Given the description of an element on the screen output the (x, y) to click on. 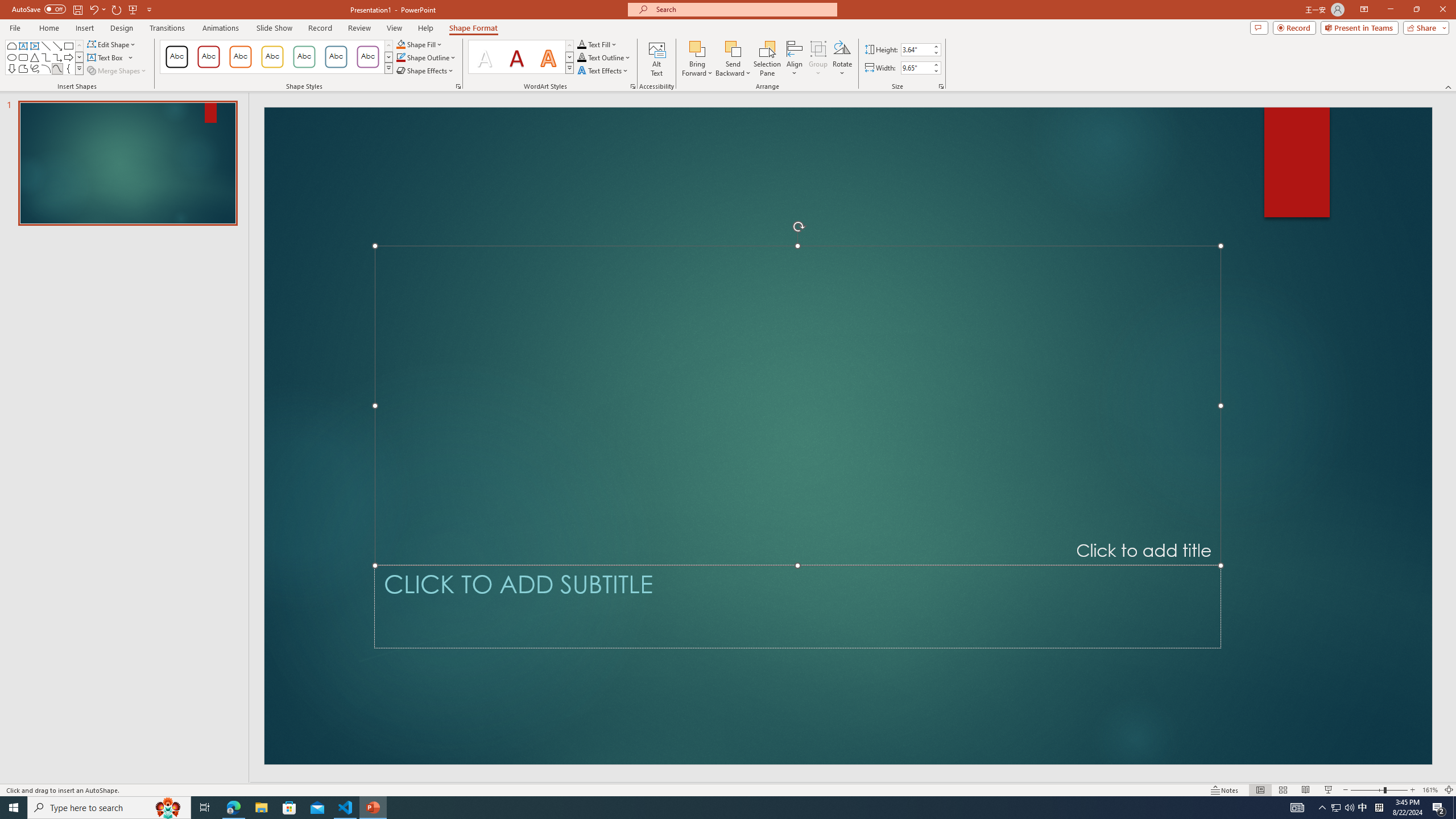
Row up (568, 45)
Connector: Elbow (46, 57)
Colored Outline - Purple, Accent 6 (368, 56)
Arrow: Down (11, 68)
Shape Fill Orange, Accent 2 (400, 44)
Shape Outline Blue, Accent 1 (400, 56)
Bring Forward (697, 58)
Rectangle (68, 45)
Text Box (110, 56)
Quick Styles (568, 67)
Isosceles Triangle (34, 57)
Class: MsoCommandBar (728, 789)
Shape Format (473, 28)
Text Fill RGB(0, 0, 0) (581, 44)
